Given the description of an element on the screen output the (x, y) to click on. 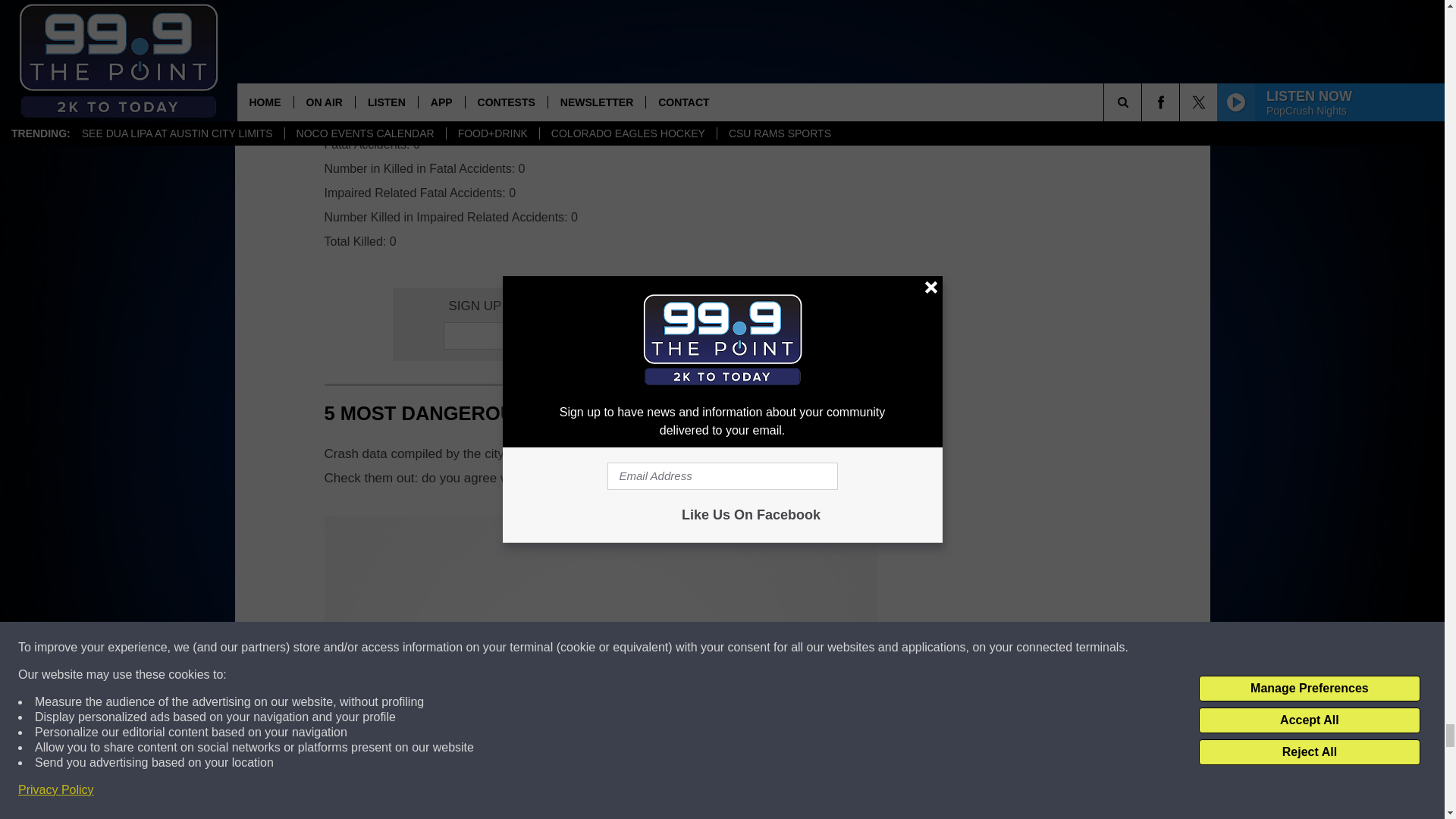
Email Address (600, 335)
